Given the description of an element on the screen output the (x, y) to click on. 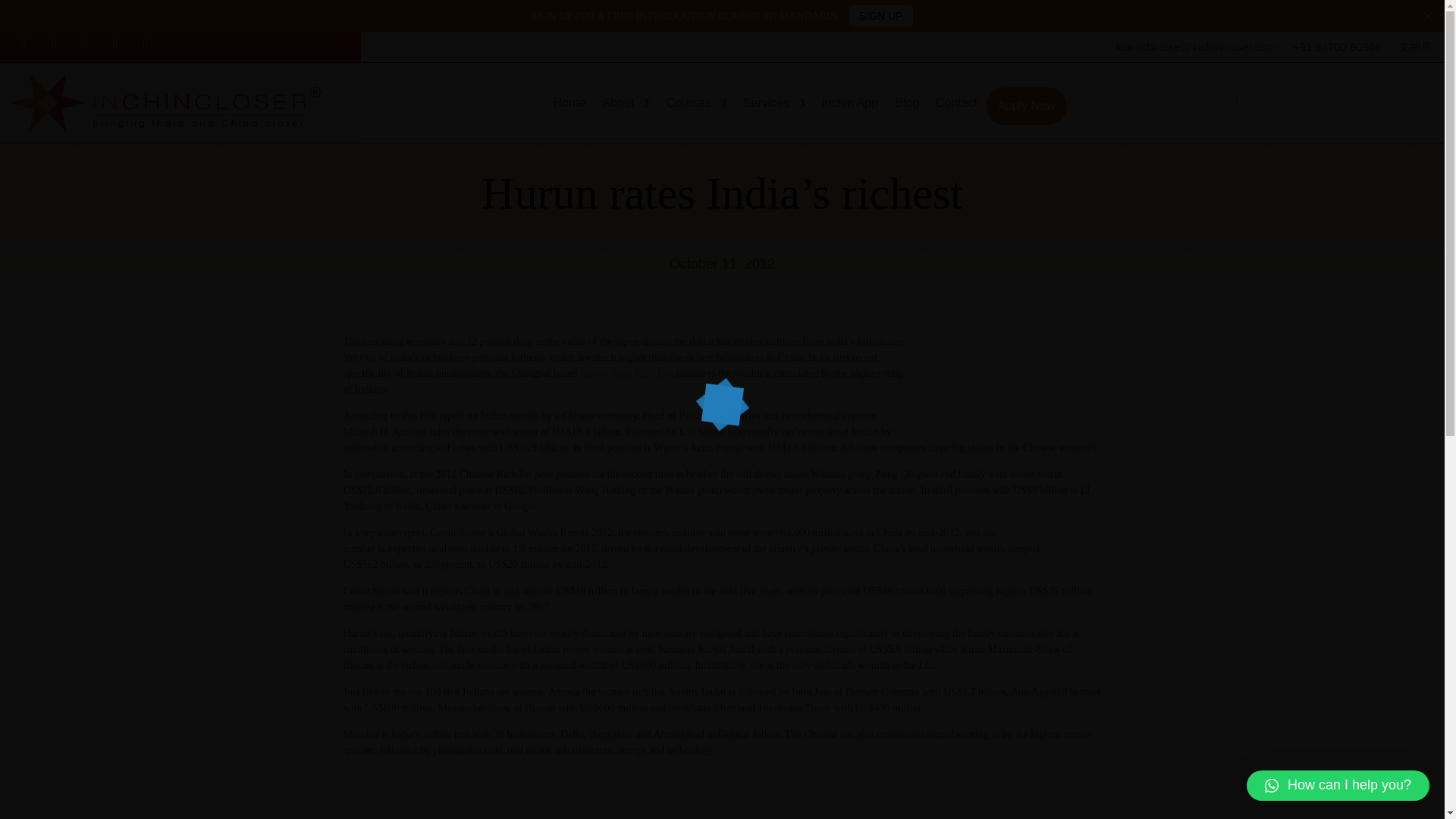
Inchin transparent logo (180, 102)
Follow on LinkedIn (115, 43)
Blog (906, 105)
Follow on Youtube (145, 43)
Apply Now (1025, 105)
Follow on Twitter (54, 43)
SIGN UP (881, 15)
Close (1427, 15)
Courses (695, 105)
Home (569, 105)
Follow on Instagram (84, 43)
Inchin App (849, 105)
About (625, 105)
Services (773, 105)
Follow on Facebook (23, 43)
